Given the description of an element on the screen output the (x, y) to click on. 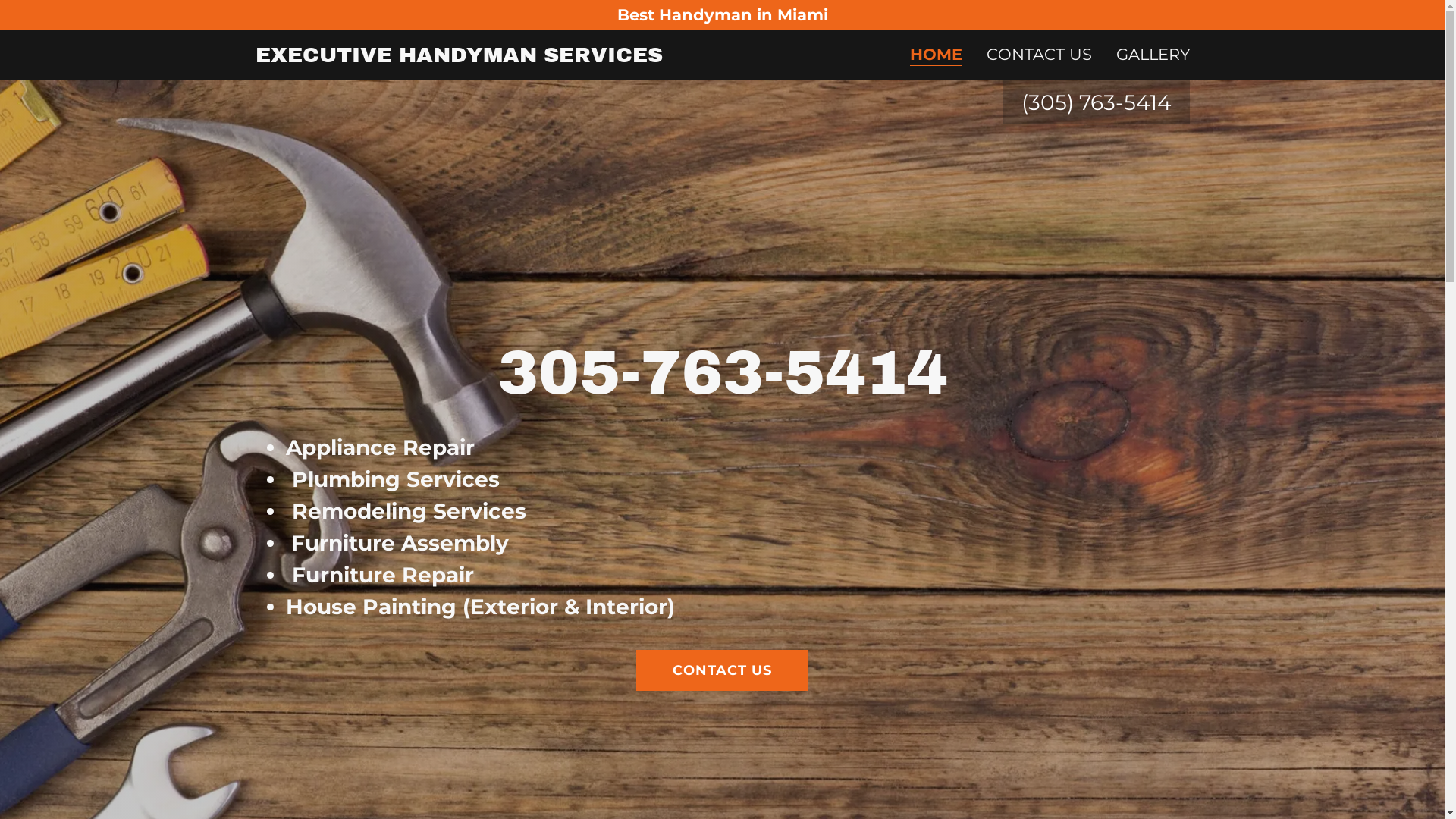
CONTACT US Element type: text (722, 669)
CONTACT US Element type: text (1038, 54)
HOME Element type: text (936, 55)
EXECUTIVE HANDYMAN SERVICES Element type: text (458, 55)
(305) 763-5414 Element type: text (1095, 102)
GALLERY Element type: text (1152, 54)
